Given the description of an element on the screen output the (x, y) to click on. 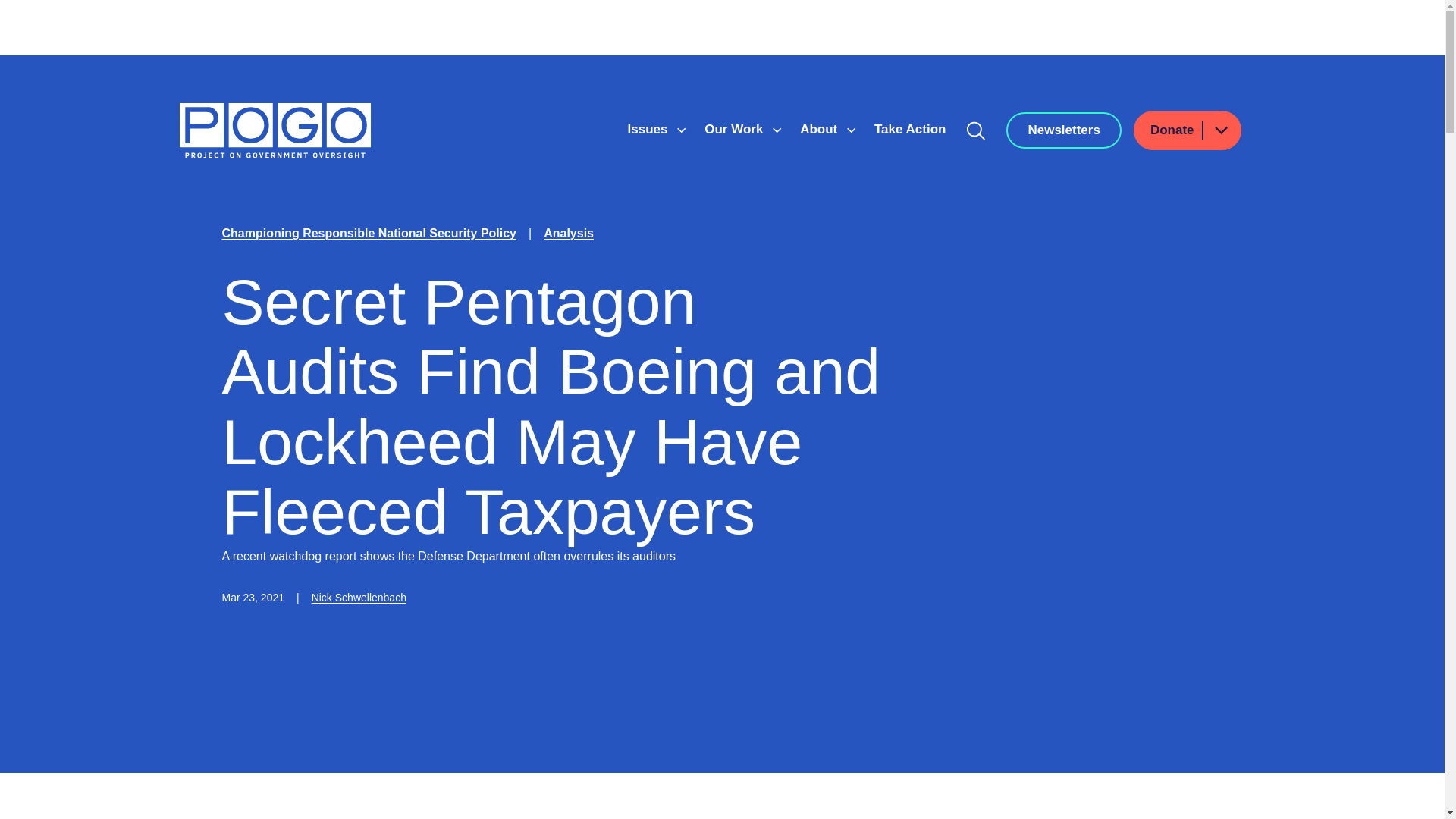
Newsletters (1063, 130)
Our Work (735, 129)
About (820, 129)
Show submenu for Donate (1220, 129)
Show submenu for About (851, 130)
Show submenu for Issues (681, 130)
Donate (1187, 130)
Issues (649, 129)
Home (274, 130)
Search (976, 130)
